Given the description of an element on the screen output the (x, y) to click on. 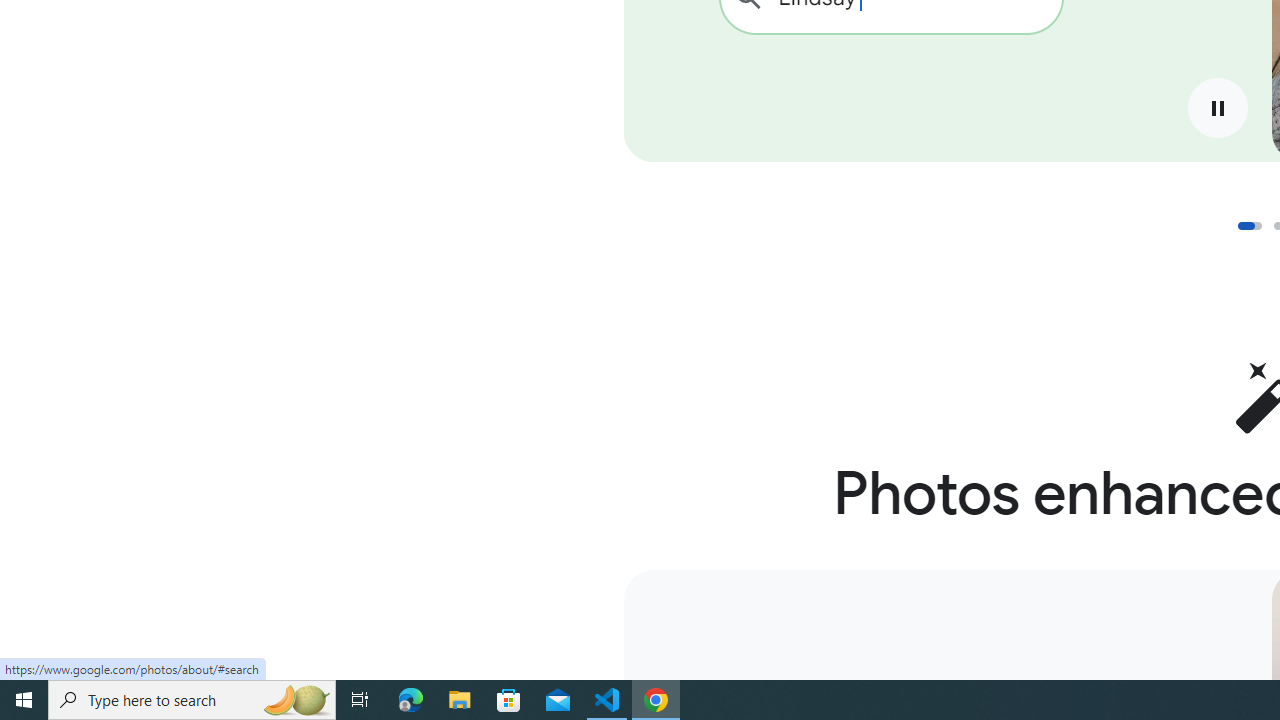
Go to slide 1 (1249, 225)
Pause (1217, 107)
